Given the description of an element on the screen output the (x, y) to click on. 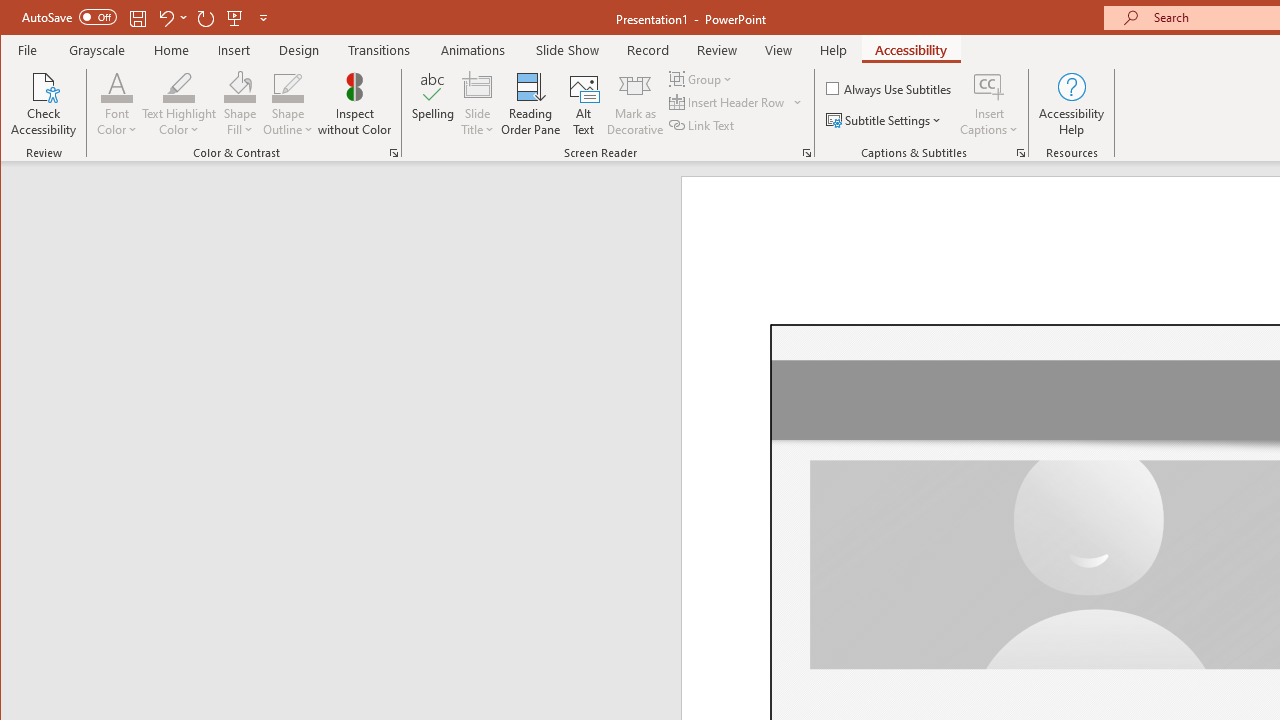
Color & Contrast (393, 152)
Screen Reader (806, 152)
Accessibility Help (1071, 104)
Link Text (703, 124)
Captions & Subtitles (1020, 152)
